Given the description of an element on the screen output the (x, y) to click on. 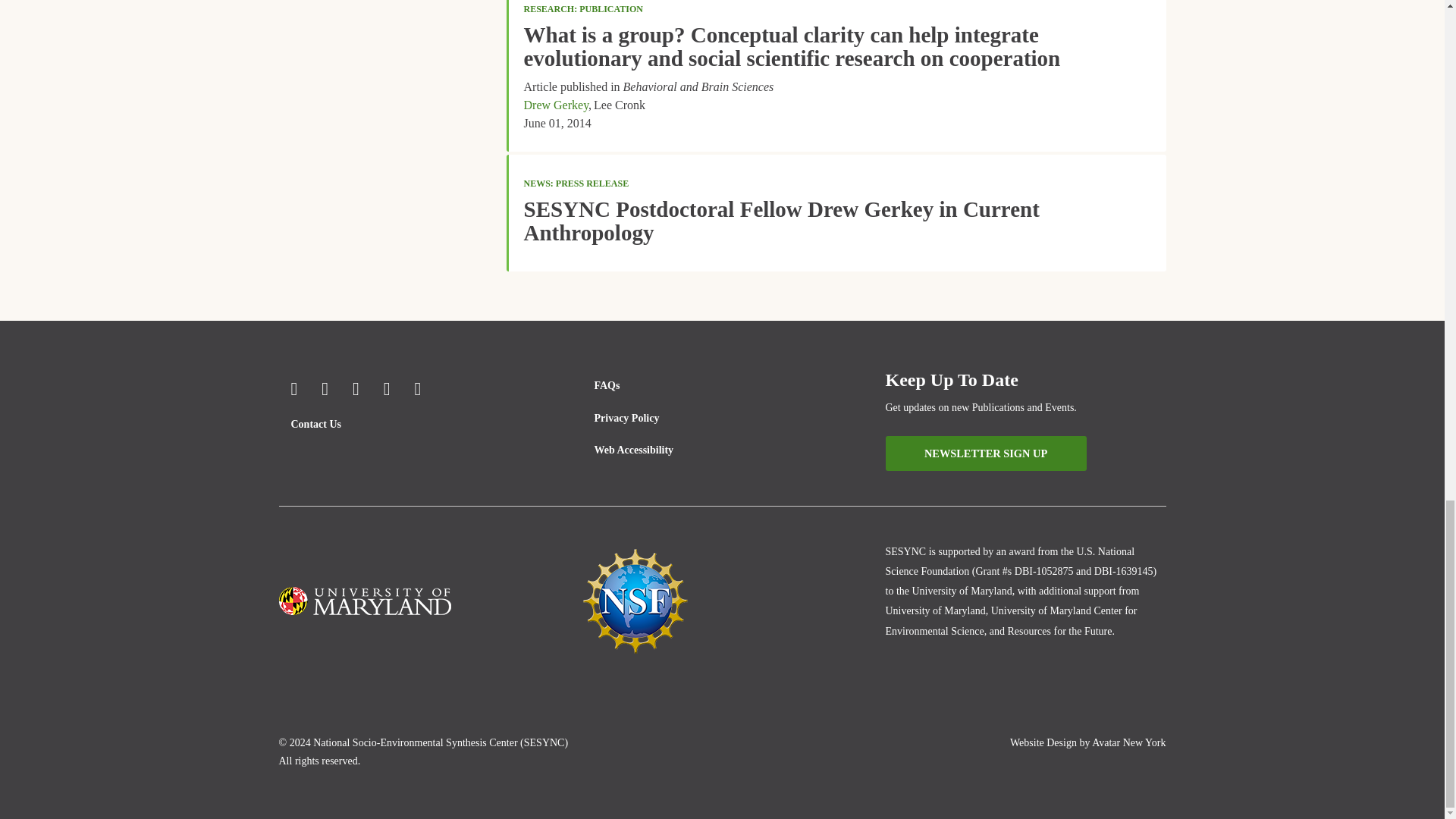
NEWS: PRESS RELEASE (575, 183)
Facebook (294, 389)
YouTube (355, 389)
Twitter (325, 389)
LinkedIn (387, 389)
RESEARCH: PUBLICATION (582, 9)
Github (418, 389)
Drew Gerkey (555, 104)
